Given the description of an element on the screen output the (x, y) to click on. 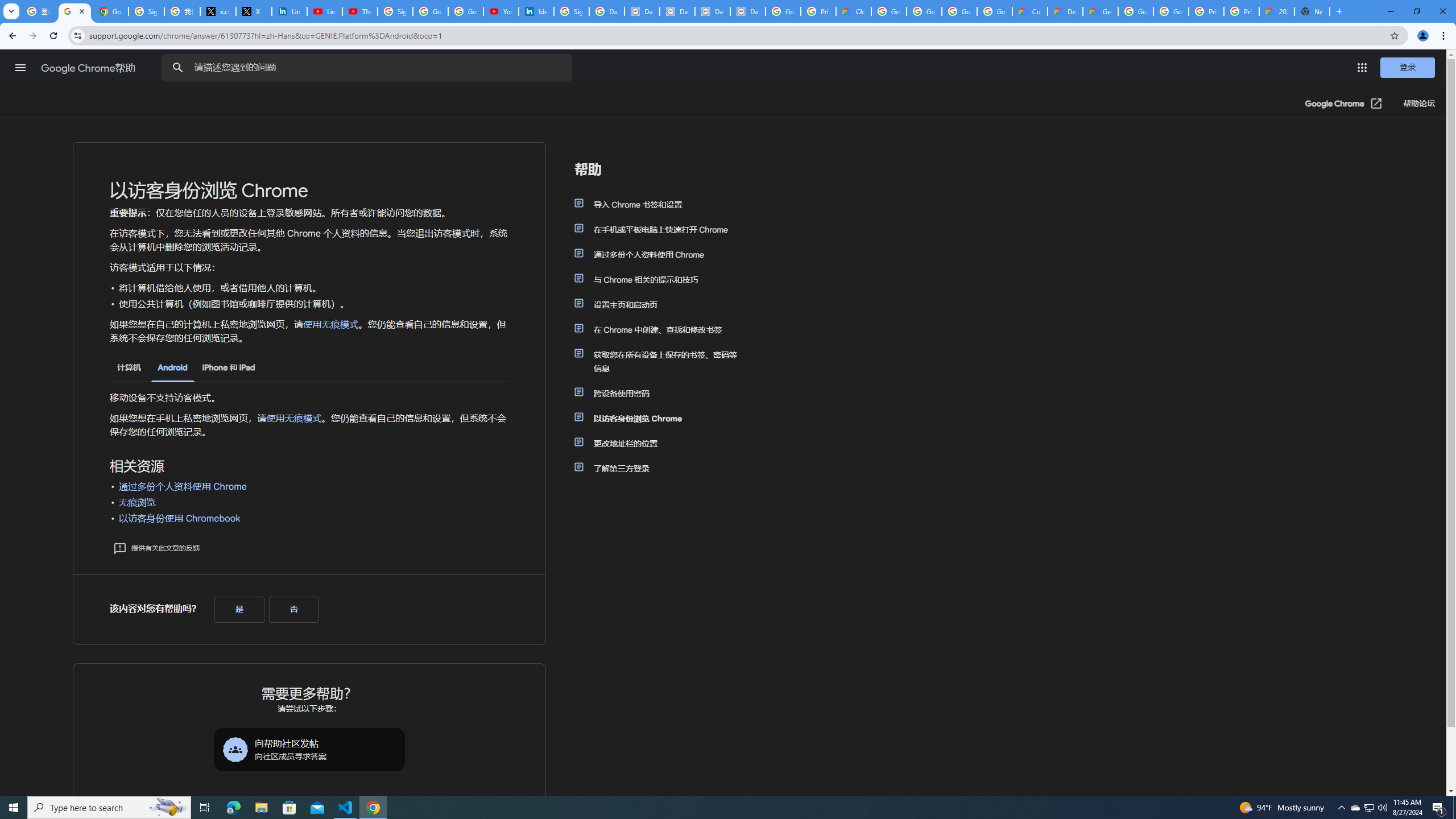
Android (172, 368)
Sign in - Google Accounts (145, 11)
LinkedIn Privacy Policy (288, 11)
Gemini for Business and Developers | Google Cloud (1099, 11)
